Given the description of an element on the screen output the (x, y) to click on. 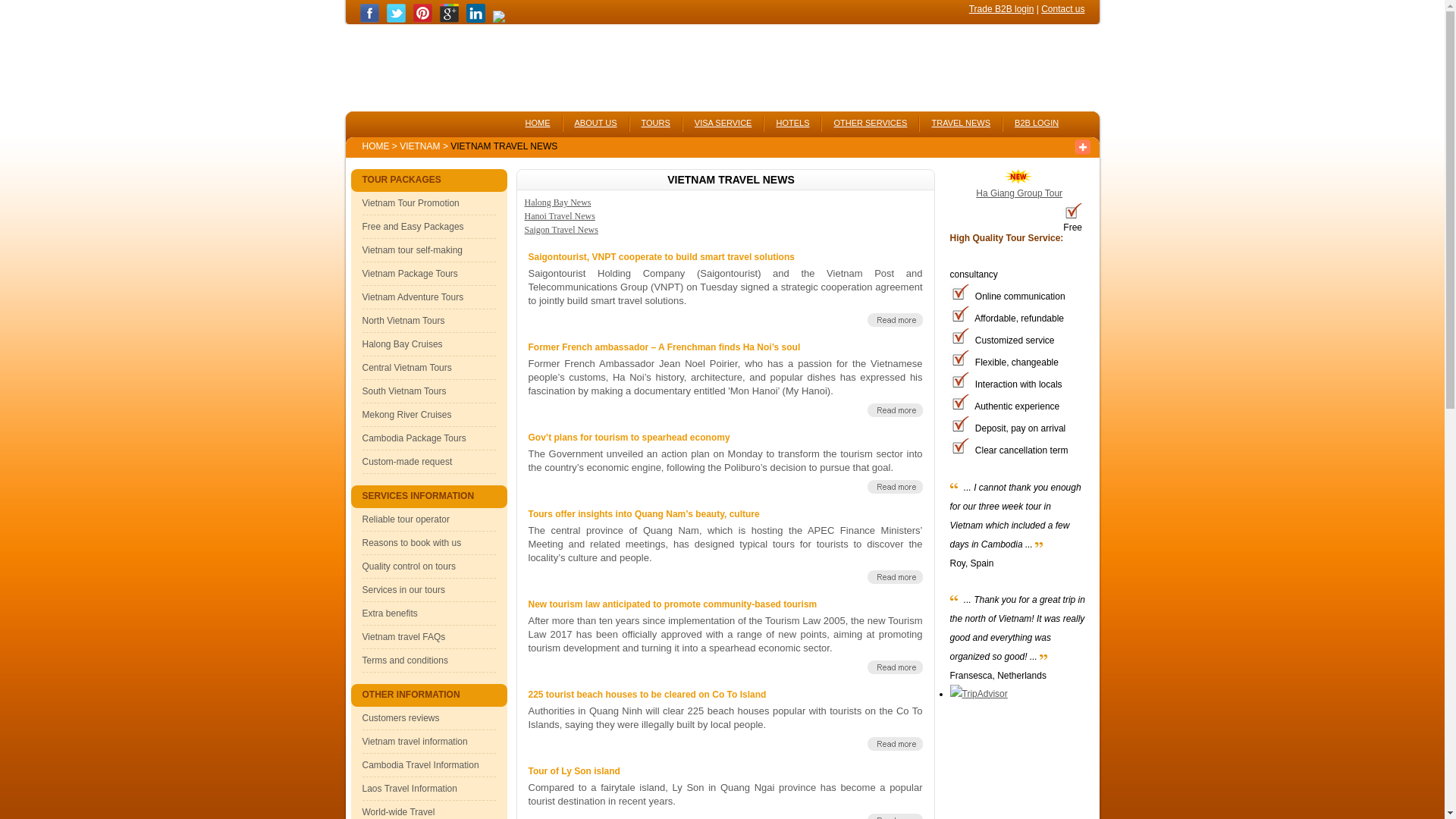
TOURS (655, 119)
North Vietnam Tours (403, 320)
HOTELS (792, 119)
Vietnam tour self-making (412, 249)
Cambodia Package Tours (413, 438)
Halong Bay Cruises (402, 344)
Tuan Linh Travel - Twitter (396, 19)
Information about Central Vietnam Tours (406, 367)
Vietnam Package Tours (410, 273)
Quality control on tours (408, 566)
